Given the description of an element on the screen output the (x, y) to click on. 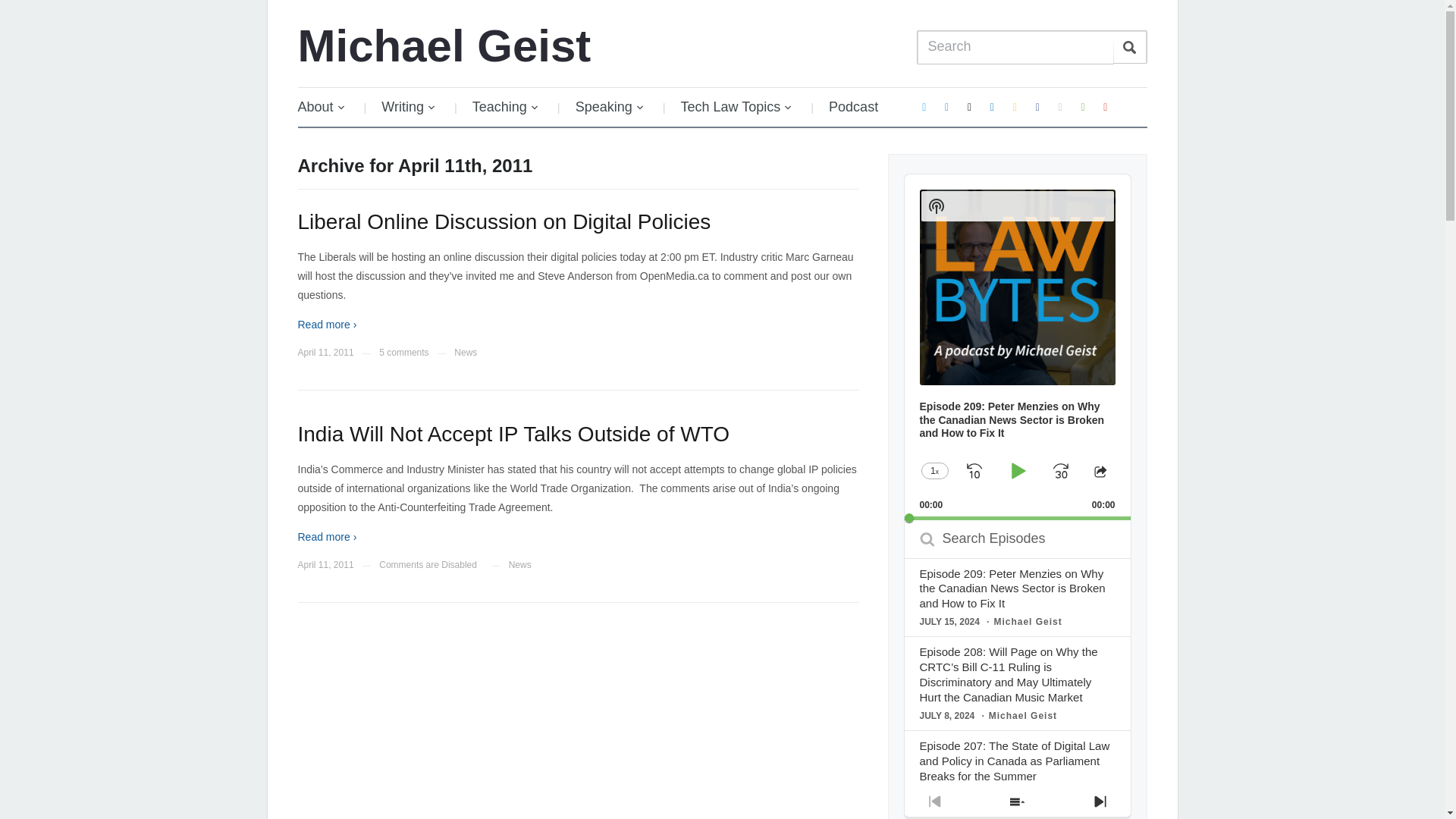
Default Label (969, 106)
Permalink to Liberal Online Discussion on Digital Policies (503, 221)
mastodon (946, 106)
Teaching (505, 106)
Default Label (1014, 106)
linkedin (991, 106)
Default Label (1082, 106)
Default Label (1059, 106)
Default Label (991, 106)
Podcast (853, 106)
Speaking (609, 106)
twitter (924, 106)
Facebook (1036, 106)
Default Label (1105, 106)
About (328, 106)
